Given the description of an element on the screen output the (x, y) to click on. 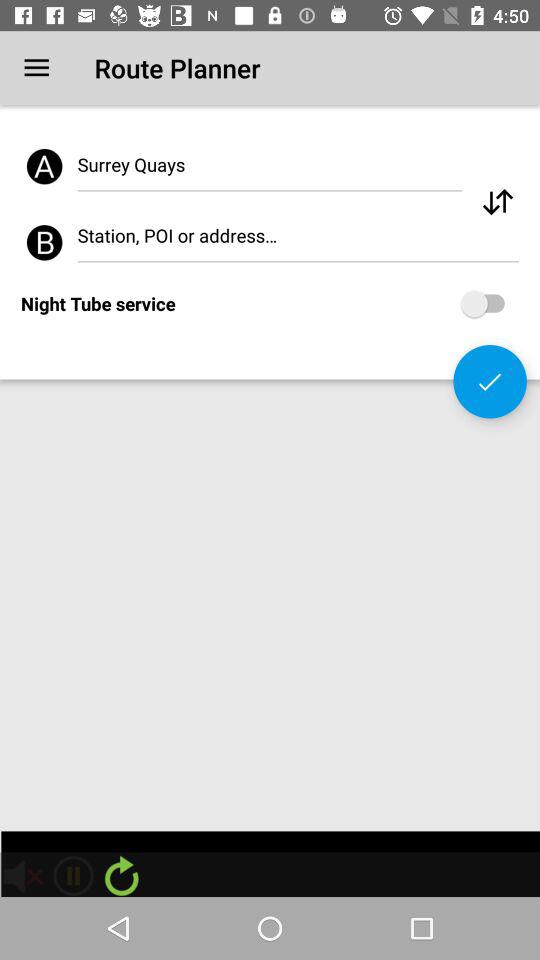
confirm (489, 381)
